Given the description of an element on the screen output the (x, y) to click on. 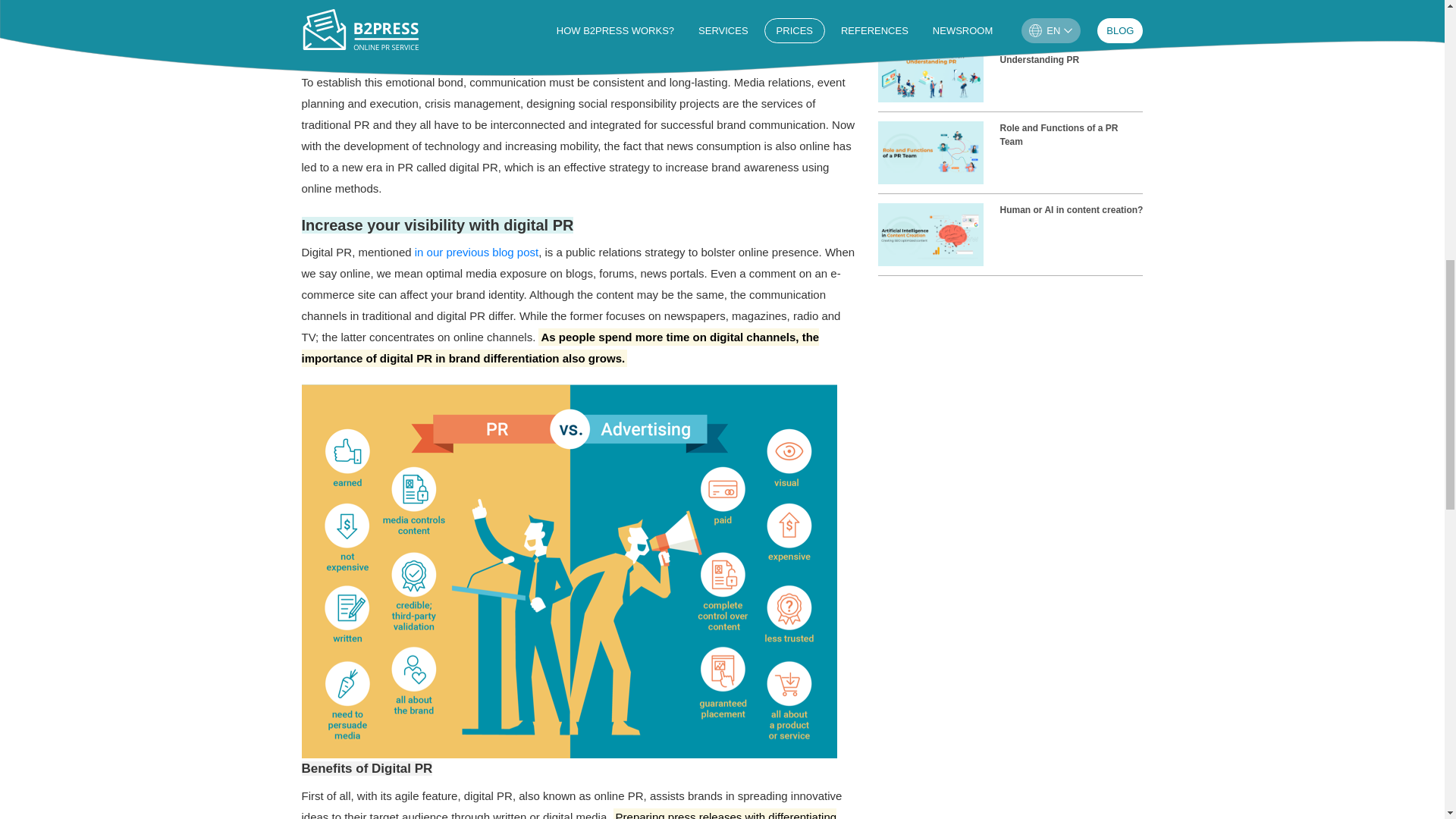
Role and Functions of a PR Team (1009, 157)
in our previous blog post (476, 251)
What does PR stand for: Understanding PR (1009, 75)
Human or AI in content creation? (1009, 239)
